Given the description of an element on the screen output the (x, y) to click on. 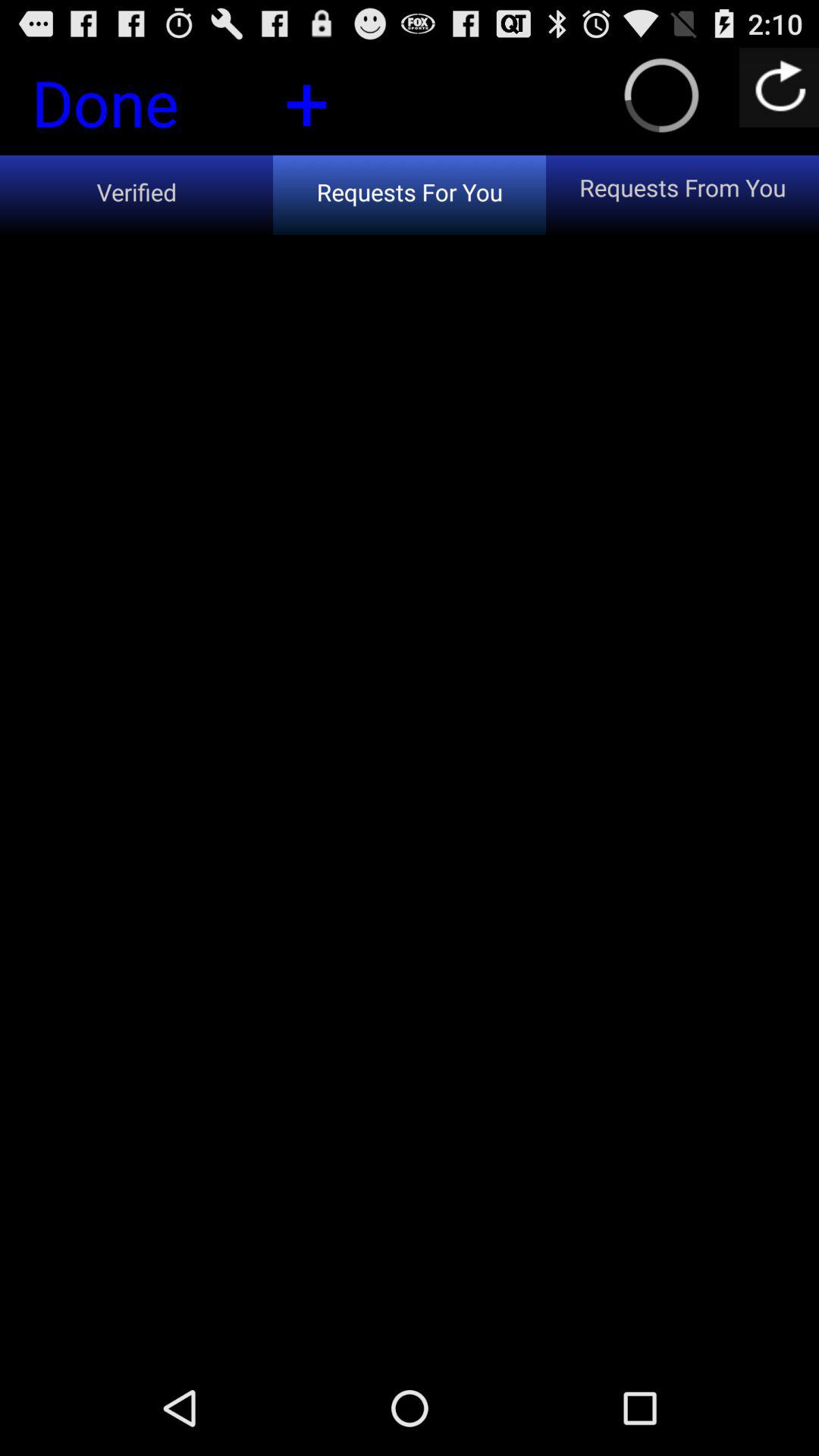
turn off icon above verified icon (130, 107)
